Given the description of an element on the screen output the (x, y) to click on. 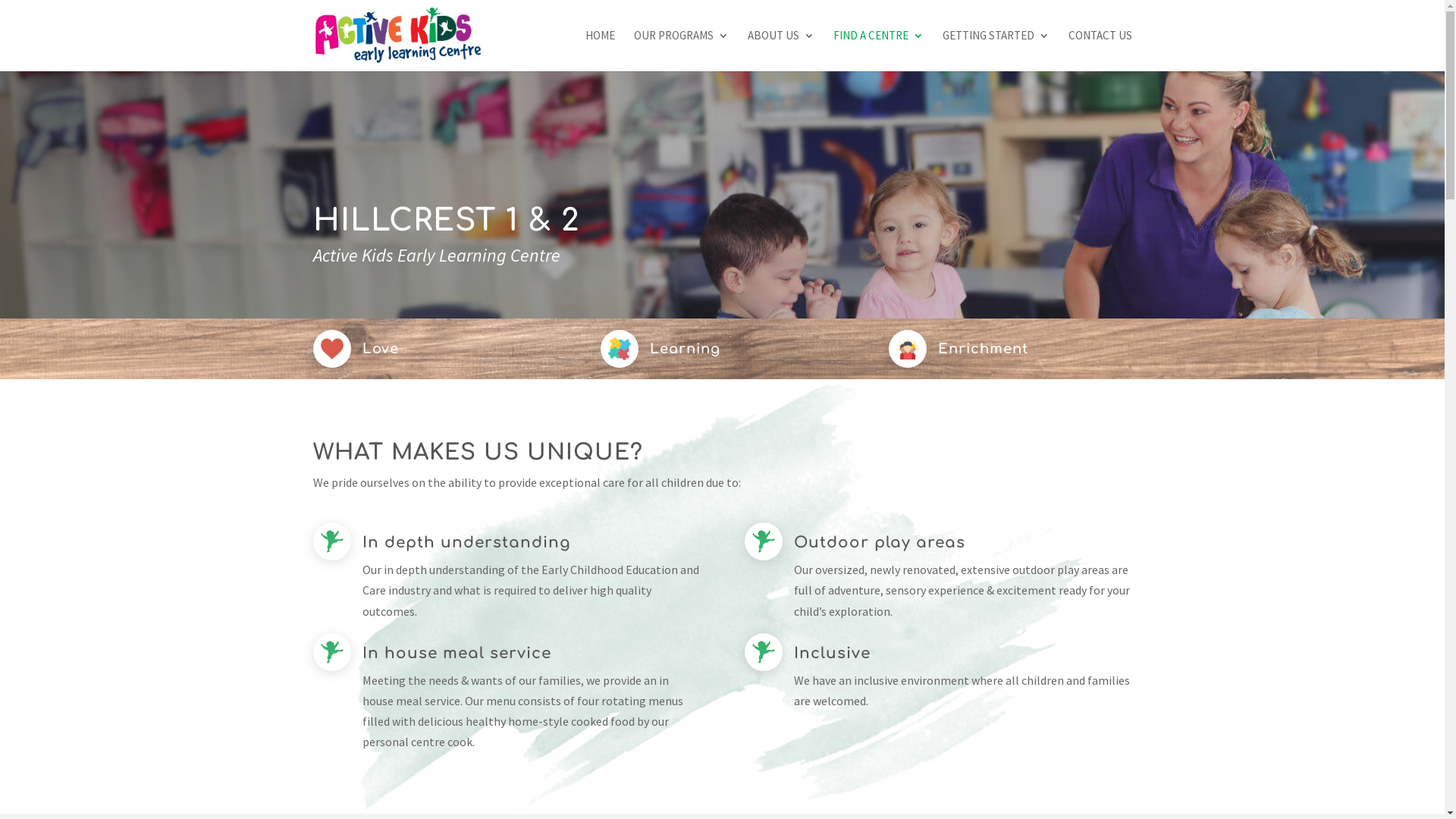
CONTACT US Element type: text (1099, 50)
FIND A CENTRE Element type: text (877, 50)
GETTING STARTED Element type: text (994, 50)
HOME Element type: text (600, 50)
OUR PROGRAMS Element type: text (680, 50)
ABOUT US Element type: text (780, 50)
